Given the description of an element on the screen output the (x, y) to click on. 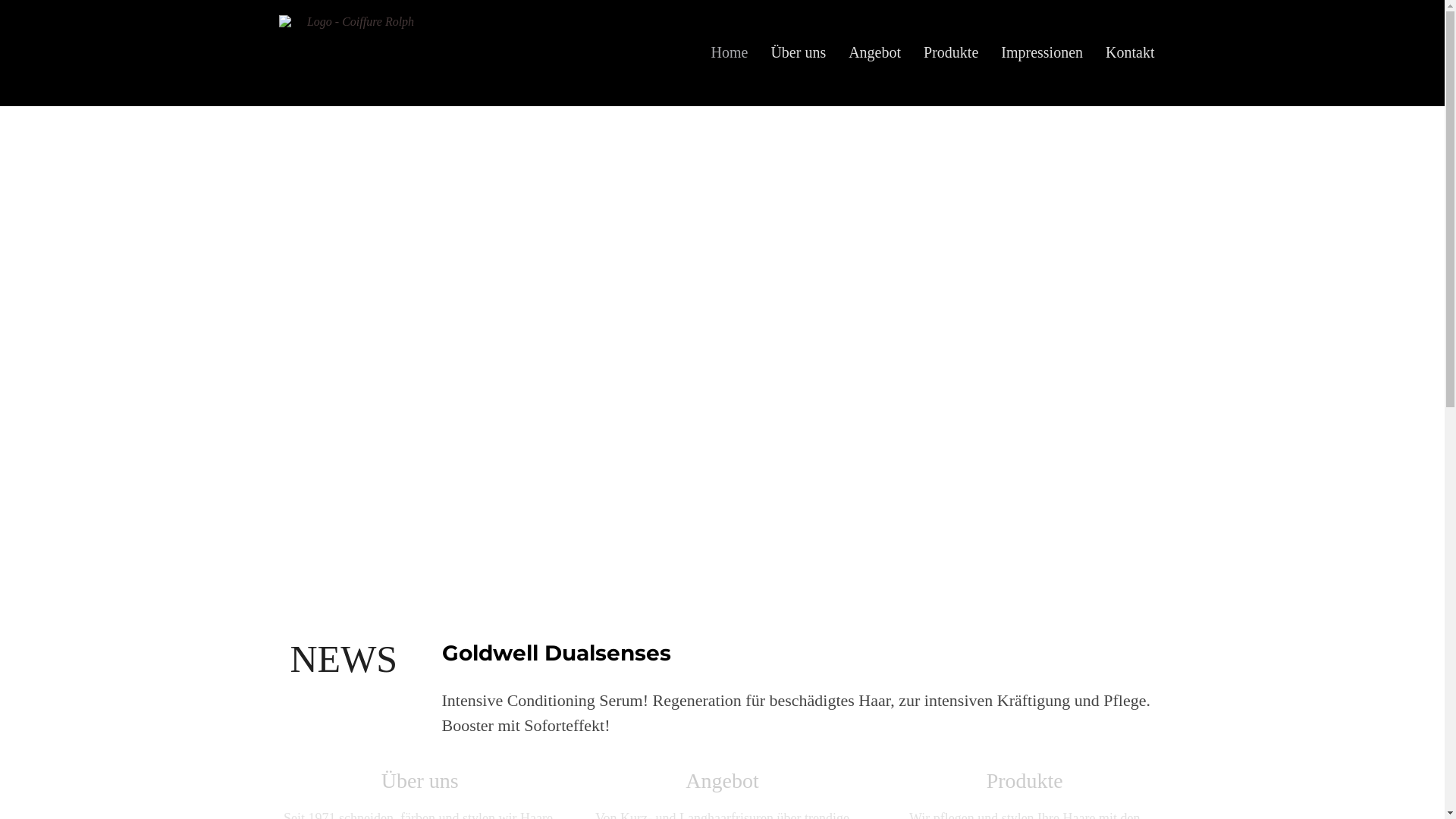
Impressionen Element type: text (1041, 52)
Produkte Element type: text (950, 52)
044 784 01 52 Element type: text (722, 405)
Home Element type: text (729, 52)
Angebot Element type: text (874, 52)
Kontakt Element type: text (1129, 52)
